Given the description of an element on the screen output the (x, y) to click on. 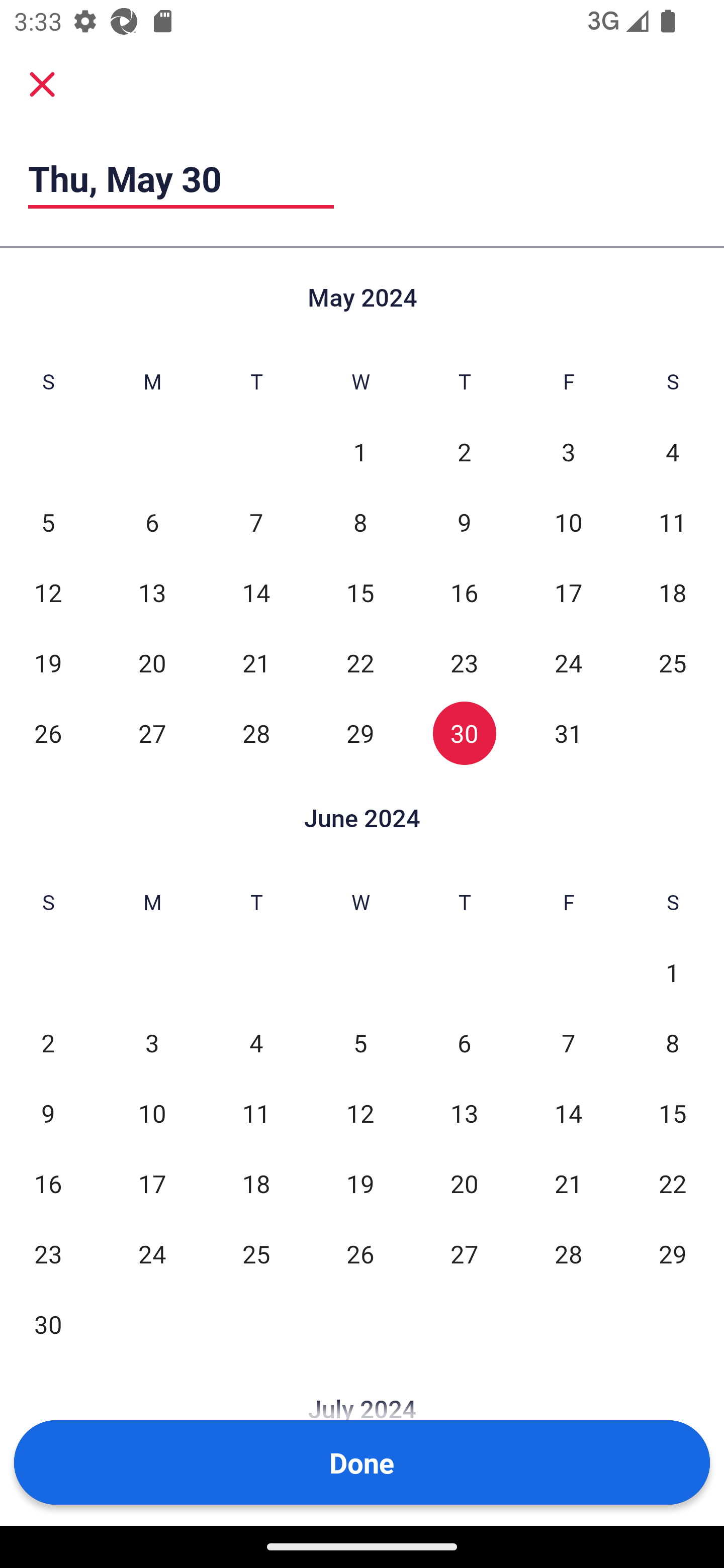
Cancel (41, 83)
Thu, May 30 (180, 178)
1 Wed, May 1, Not Selected (360, 452)
2 Thu, May 2, Not Selected (464, 452)
3 Fri, May 3, Not Selected (568, 452)
4 Sat, May 4, Not Selected (672, 452)
5 Sun, May 5, Not Selected (48, 521)
6 Mon, May 6, Not Selected (152, 521)
7 Tue, May 7, Not Selected (256, 521)
8 Wed, May 8, Not Selected (360, 521)
9 Thu, May 9, Not Selected (464, 521)
10 Fri, May 10, Not Selected (568, 521)
11 Sat, May 11, Not Selected (672, 521)
12 Sun, May 12, Not Selected (48, 591)
13 Mon, May 13, Not Selected (152, 591)
14 Tue, May 14, Not Selected (256, 591)
15 Wed, May 15, Not Selected (360, 591)
16 Thu, May 16, Not Selected (464, 591)
17 Fri, May 17, Not Selected (568, 591)
18 Sat, May 18, Not Selected (672, 591)
19 Sun, May 19, Not Selected (48, 662)
20 Mon, May 20, Not Selected (152, 662)
21 Tue, May 21, Not Selected (256, 662)
22 Wed, May 22, Not Selected (360, 662)
23 Thu, May 23, Not Selected (464, 662)
24 Fri, May 24, Not Selected (568, 662)
25 Sat, May 25, Not Selected (672, 662)
26 Sun, May 26, Not Selected (48, 732)
27 Mon, May 27, Not Selected (152, 732)
28 Tue, May 28, Not Selected (256, 732)
29 Wed, May 29, Not Selected (360, 732)
30 Thu, May 30, Selected (464, 732)
31 Fri, May 31, Not Selected (568, 732)
1 Sat, Jun 1, Not Selected (672, 972)
2 Sun, Jun 2, Not Selected (48, 1043)
3 Mon, Jun 3, Not Selected (152, 1043)
4 Tue, Jun 4, Not Selected (256, 1043)
5 Wed, Jun 5, Not Selected (360, 1043)
6 Thu, Jun 6, Not Selected (464, 1043)
7 Fri, Jun 7, Not Selected (568, 1043)
8 Sat, Jun 8, Not Selected (672, 1043)
9 Sun, Jun 9, Not Selected (48, 1112)
10 Mon, Jun 10, Not Selected (152, 1112)
11 Tue, Jun 11, Not Selected (256, 1112)
12 Wed, Jun 12, Not Selected (360, 1112)
13 Thu, Jun 13, Not Selected (464, 1112)
14 Fri, Jun 14, Not Selected (568, 1112)
15 Sat, Jun 15, Not Selected (672, 1112)
16 Sun, Jun 16, Not Selected (48, 1182)
17 Mon, Jun 17, Not Selected (152, 1182)
18 Tue, Jun 18, Not Selected (256, 1182)
19 Wed, Jun 19, Not Selected (360, 1182)
20 Thu, Jun 20, Not Selected (464, 1182)
21 Fri, Jun 21, Not Selected (568, 1182)
22 Sat, Jun 22, Not Selected (672, 1182)
23 Sun, Jun 23, Not Selected (48, 1253)
24 Mon, Jun 24, Not Selected (152, 1253)
25 Tue, Jun 25, Not Selected (256, 1253)
26 Wed, Jun 26, Not Selected (360, 1253)
27 Thu, Jun 27, Not Selected (464, 1253)
28 Fri, Jun 28, Not Selected (568, 1253)
29 Sat, Jun 29, Not Selected (672, 1253)
30 Sun, Jun 30, Not Selected (48, 1323)
Done Button Done (361, 1462)
